Given the description of an element on the screen output the (x, y) to click on. 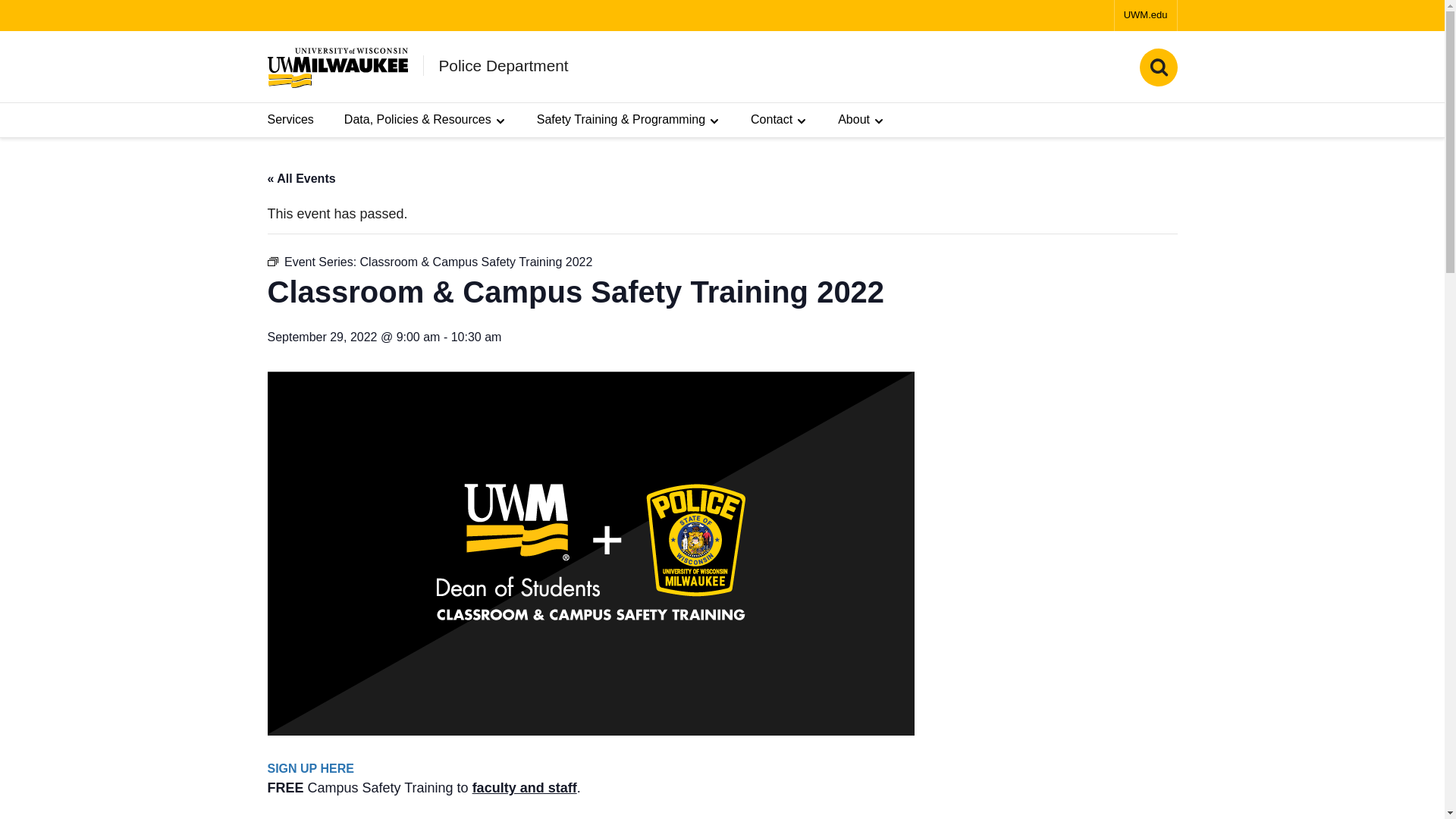
Services (289, 120)
UWM.edu (1145, 15)
Contact (778, 120)
Police Department (502, 65)
UWM Police Department (502, 65)
University of Wisconsin-Milwaukee (336, 67)
Event Series (272, 261)
SIGN UP HERE (309, 768)
Site Search (1157, 67)
Event Series: (272, 261)
UWM Police Department (336, 67)
About (860, 120)
